Given the description of an element on the screen output the (x, y) to click on. 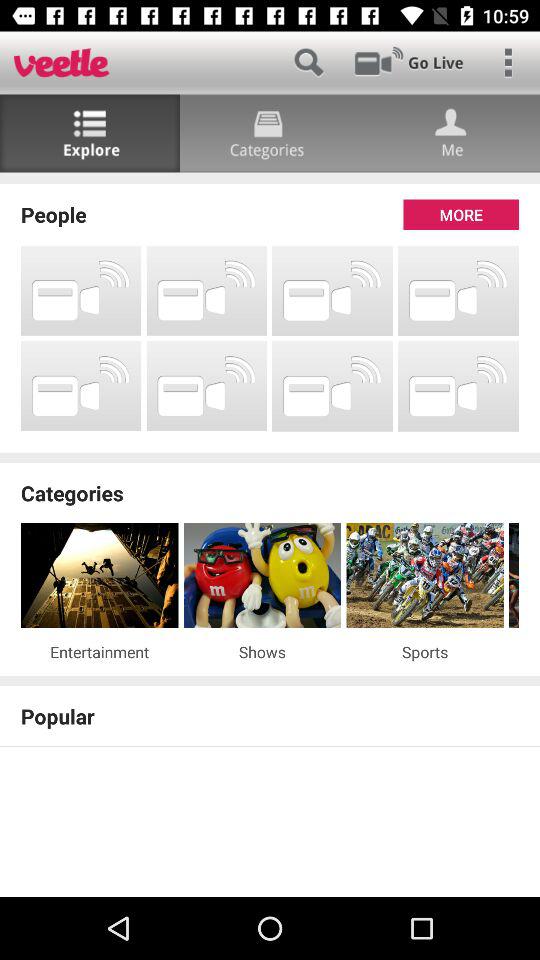
explore menu (90, 133)
